Given the description of an element on the screen output the (x, y) to click on. 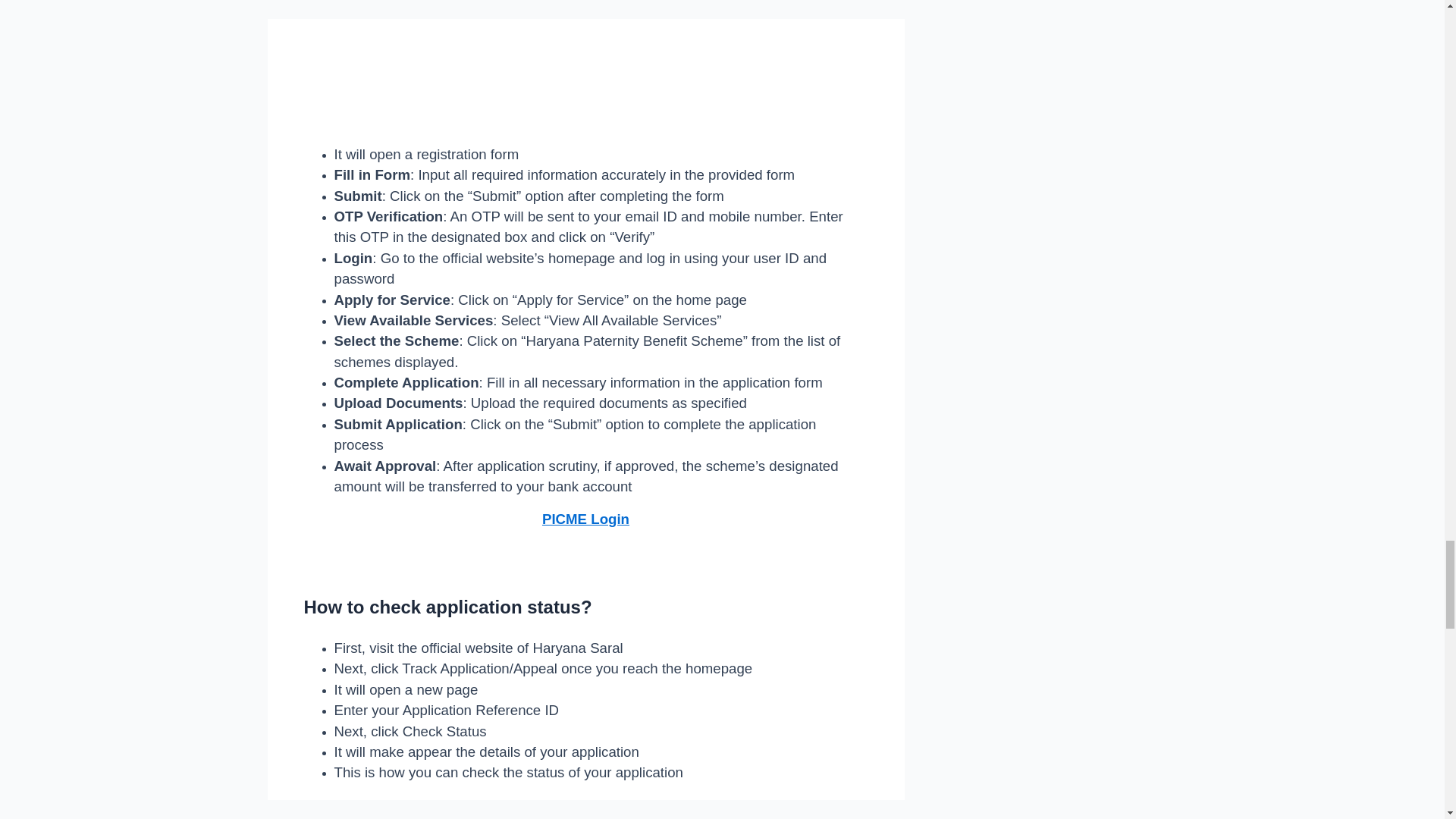
PICME Login (584, 519)
